Given the description of an element on the screen output the (x, y) to click on. 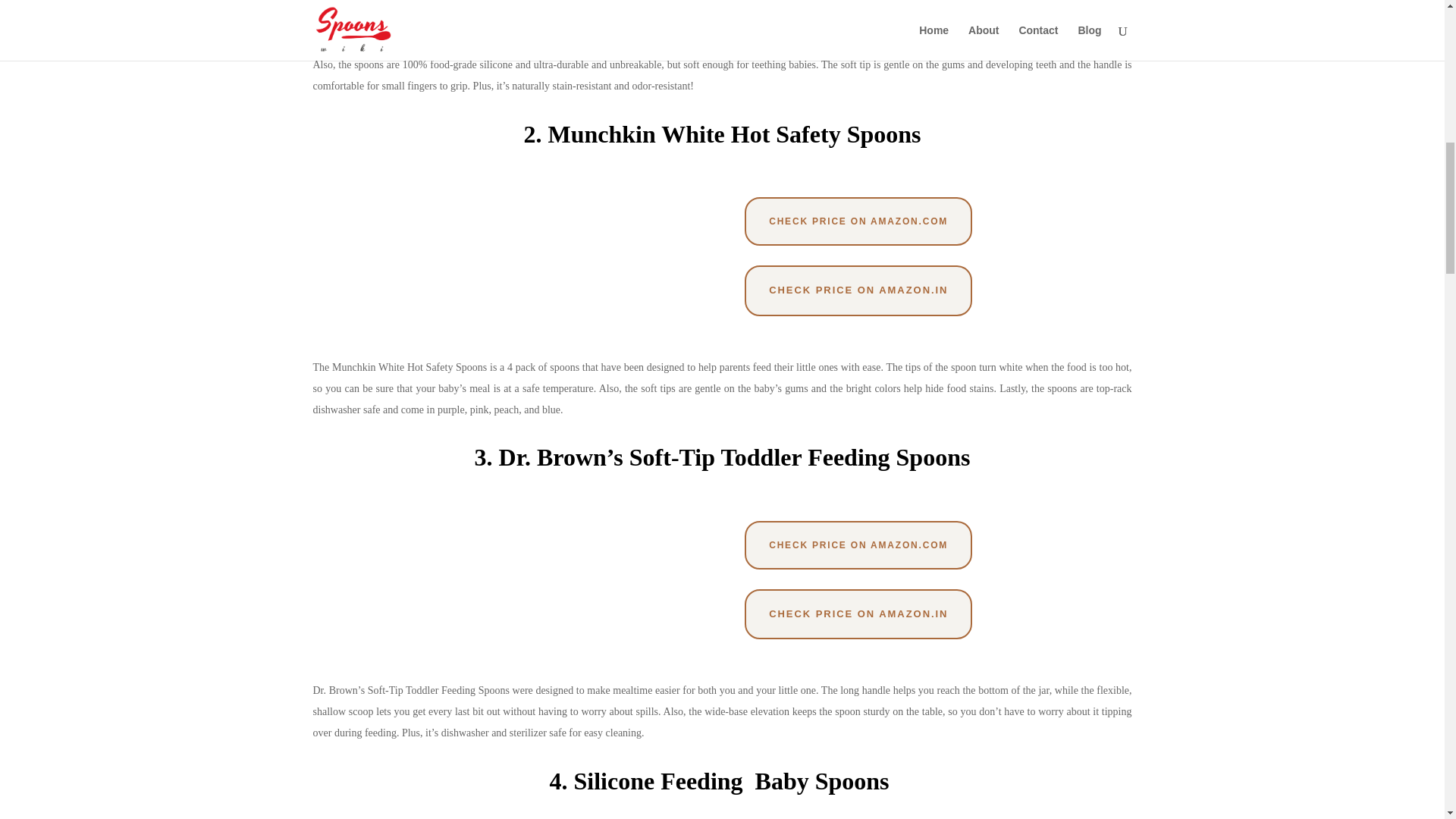
CHECK PRICE ON AMAZON.IN (858, 613)
CHECK PRICE ON AMAZON.IN (858, 290)
CHECK PRICE ON AMAZON.COM (858, 221)
CHECK PRICE ON AMAZON.COM (858, 544)
